Given the description of an element on the screen output the (x, y) to click on. 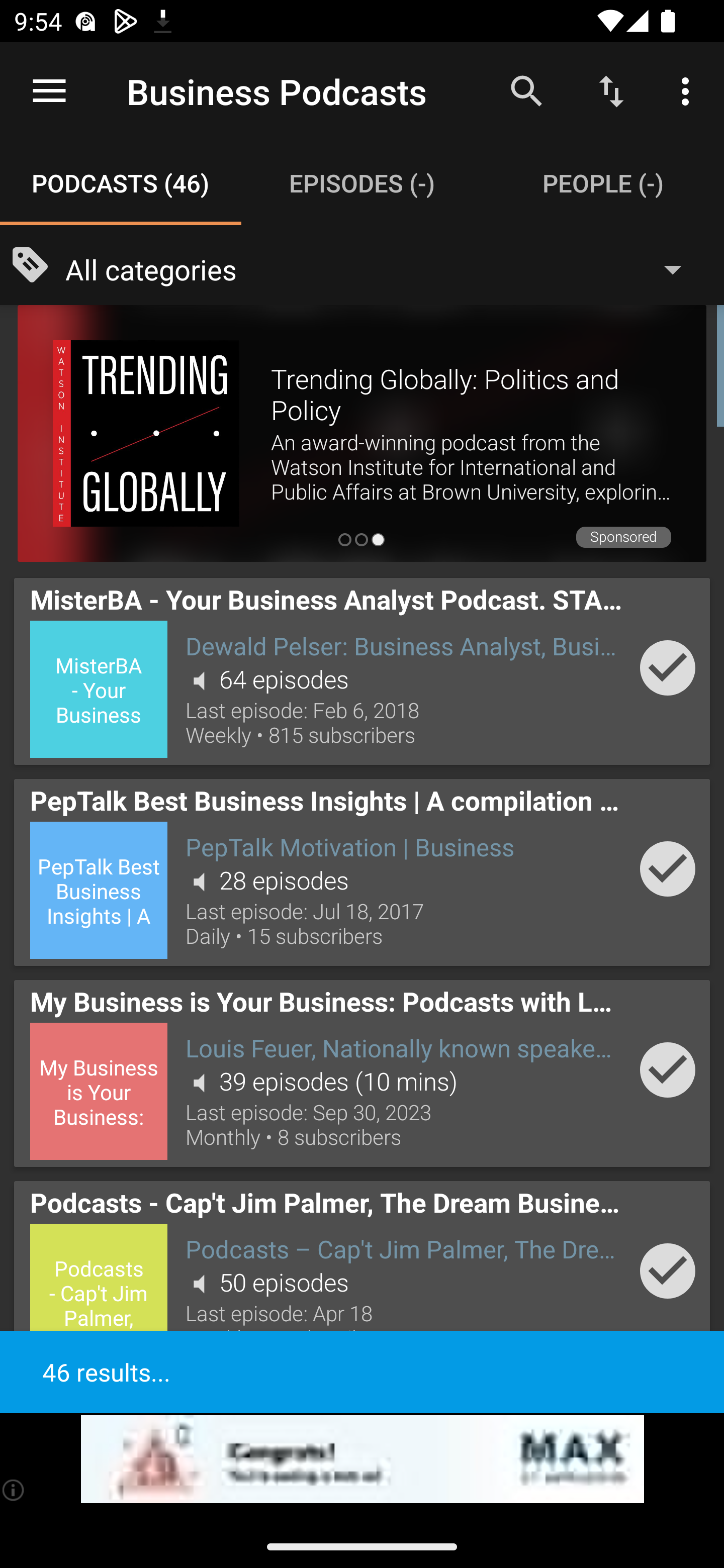
Open navigation sidebar (49, 91)
Search (526, 90)
Sort (611, 90)
More options (688, 90)
Episodes (-) EPISODES (-) (361, 183)
People (-) PEOPLE (-) (603, 183)
All categories (383, 268)
Add (667, 667)
Add (667, 868)
Add (667, 1069)
Add (667, 1271)
app-monetization (362, 1459)
(i) (14, 1489)
